Given the description of an element on the screen output the (x, y) to click on. 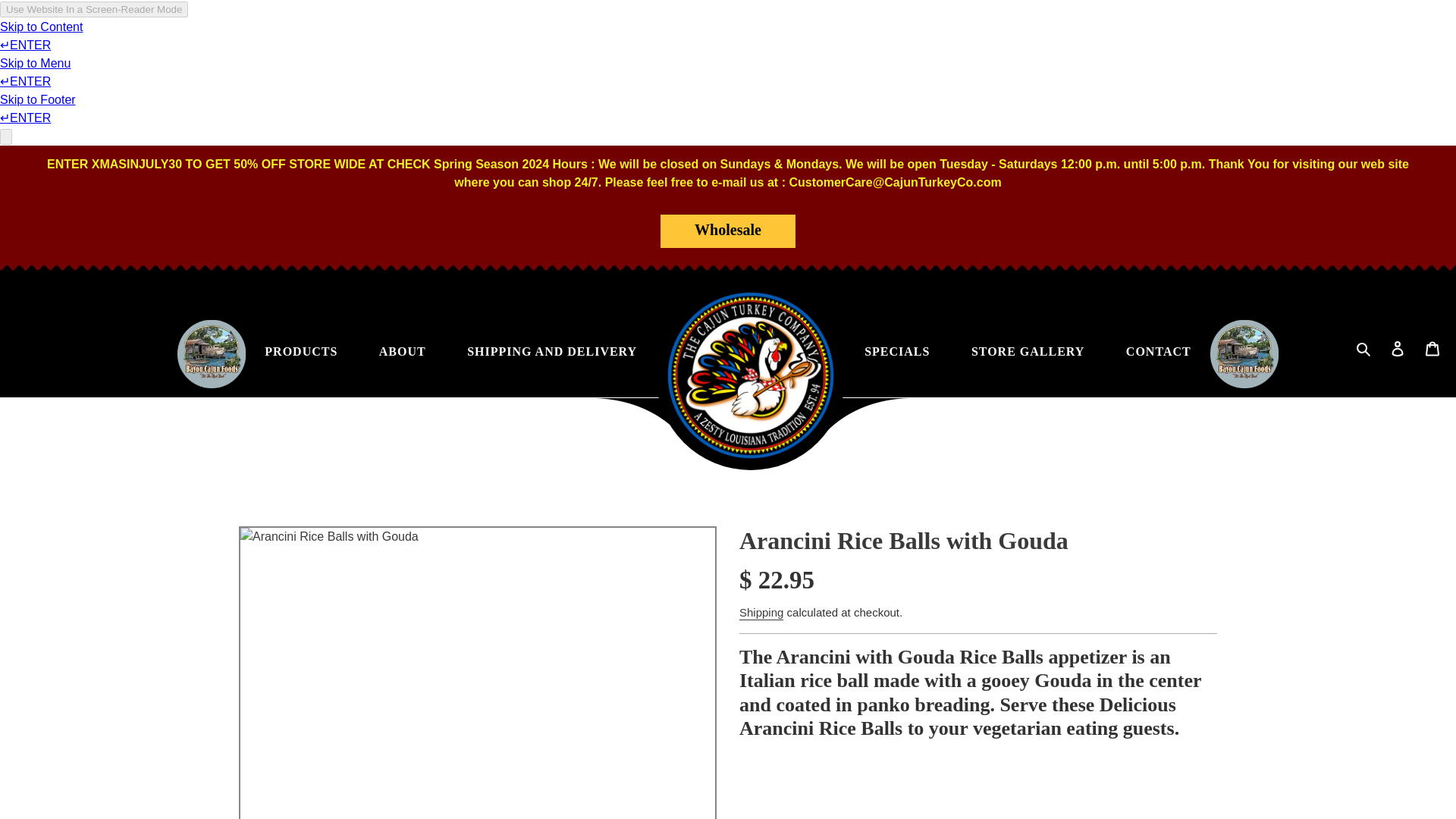
STORE GALLERY (1028, 353)
Log in (1398, 348)
SPECIALS (897, 353)
CONTACT (1158, 353)
PRODUCTS (301, 353)
ABOUT (402, 353)
SHIPPING AND DELIVERY (552, 353)
Cart (1432, 348)
Wholesale (727, 231)
Search (1364, 348)
